Given the description of an element on the screen output the (x, y) to click on. 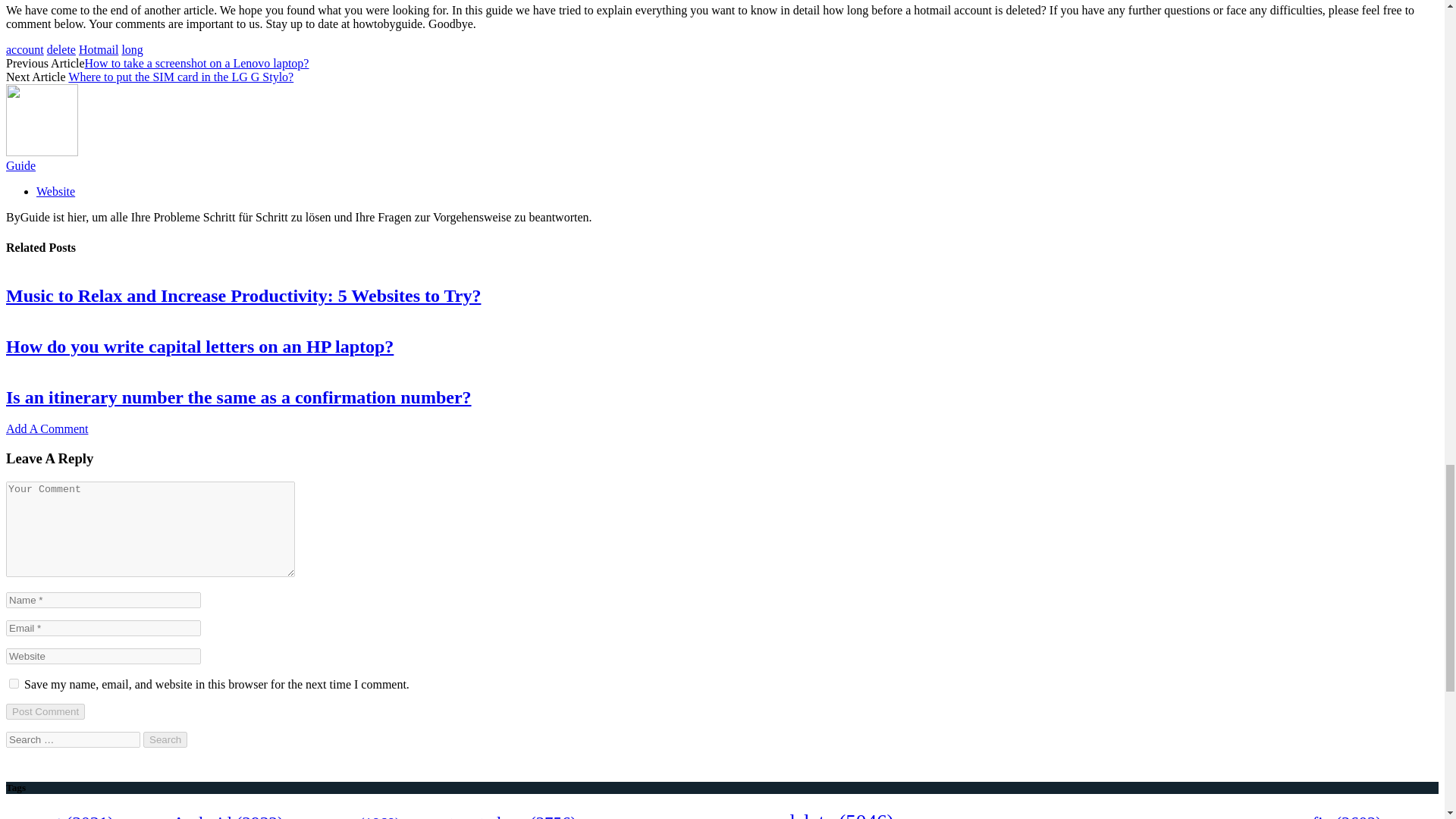
account (24, 49)
Hotmail (97, 49)
Search (164, 739)
delete (60, 49)
Website (55, 191)
Search (164, 739)
How to take a screenshot on a Lenovo laptop? (196, 62)
Posts by Guide (19, 164)
yes (13, 683)
long (131, 49)
Post Comment (44, 711)
